Given the description of an element on the screen output the (x, y) to click on. 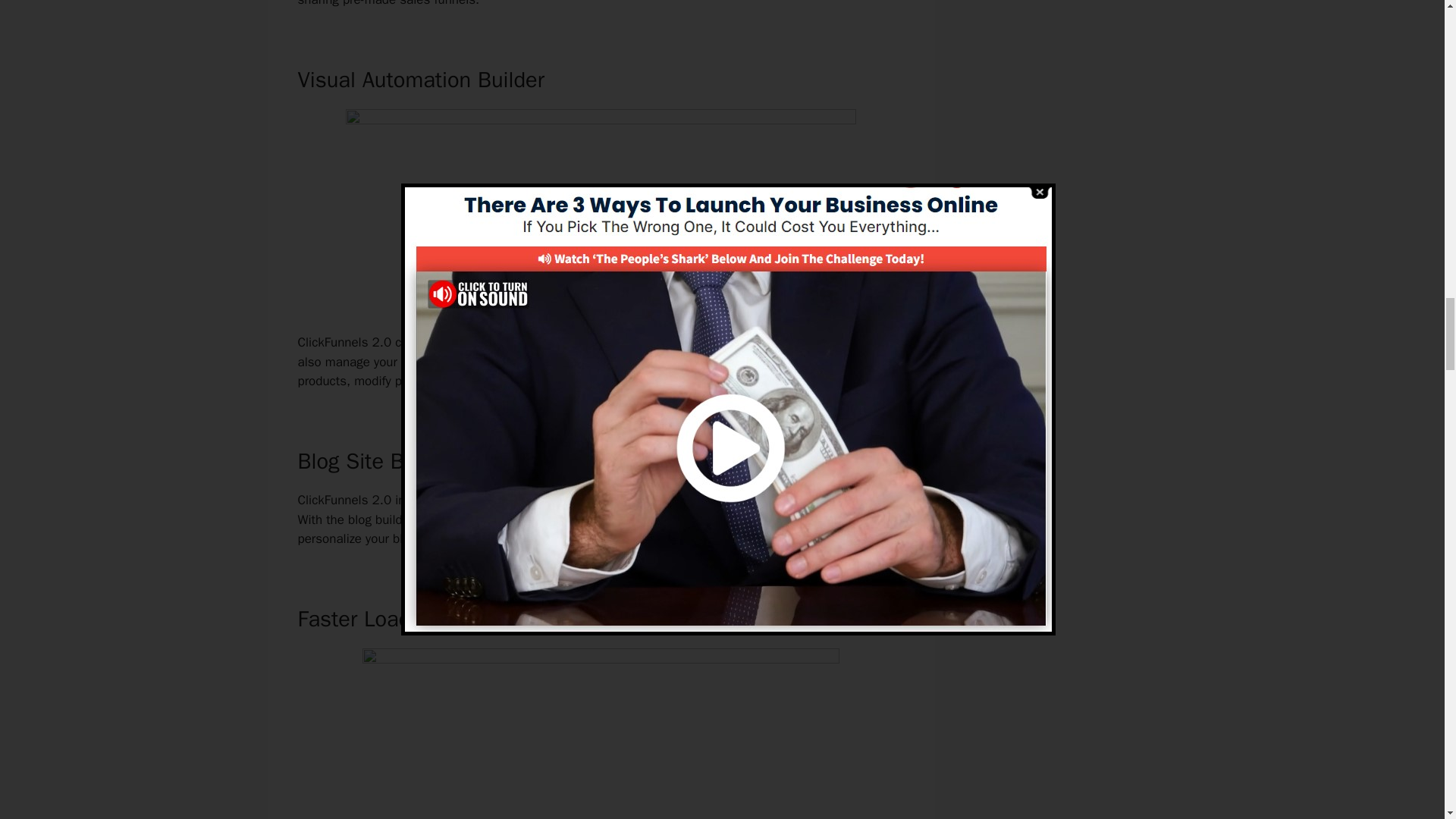
Begin Here For Free Now (600, 291)
